Given the description of an element on the screen output the (x, y) to click on. 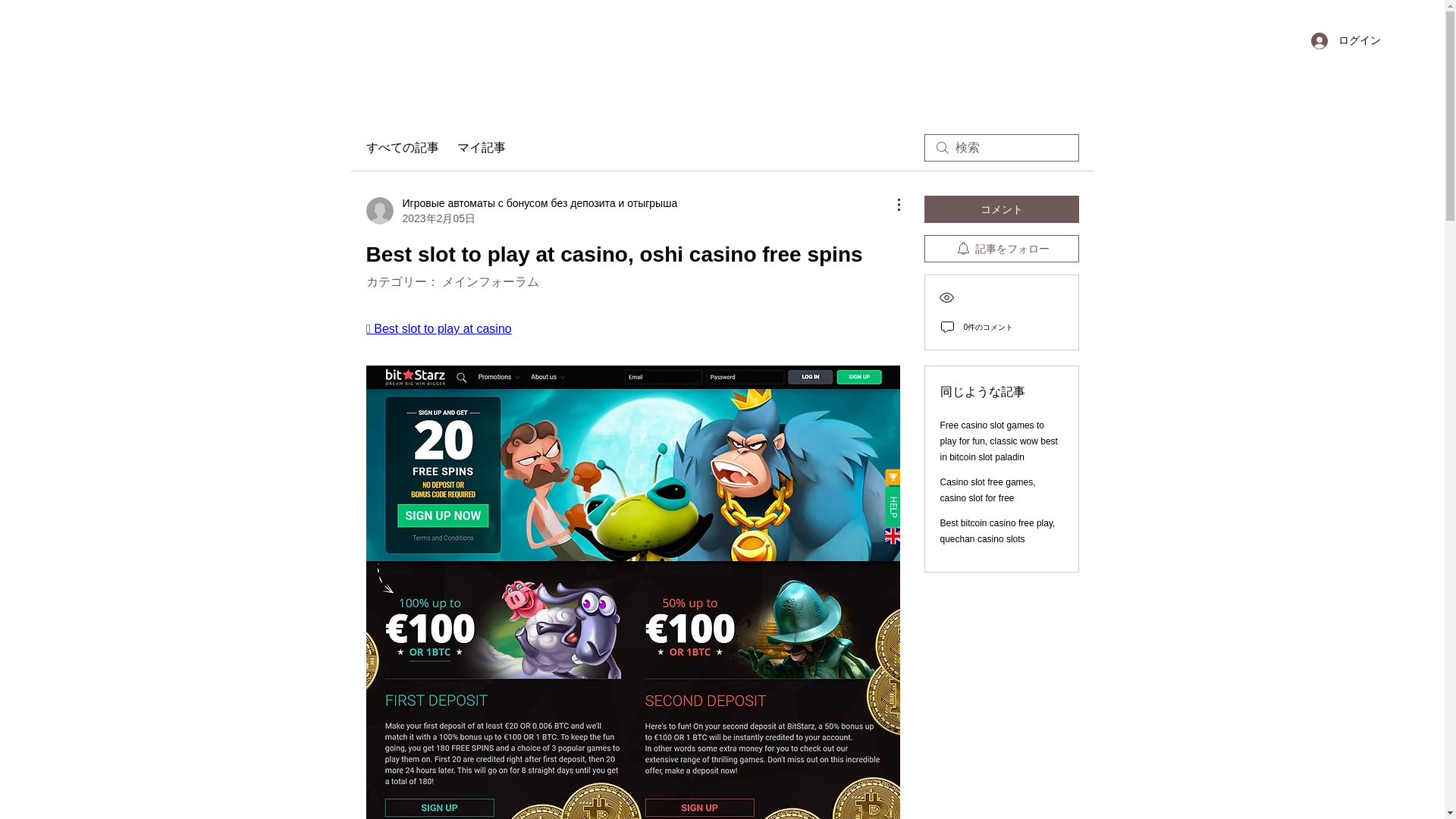
Casino slot free games, casino slot for free (987, 489)
Best bitcoin casino free play, quechan casino slots (997, 530)
